Given the description of an element on the screen output the (x, y) to click on. 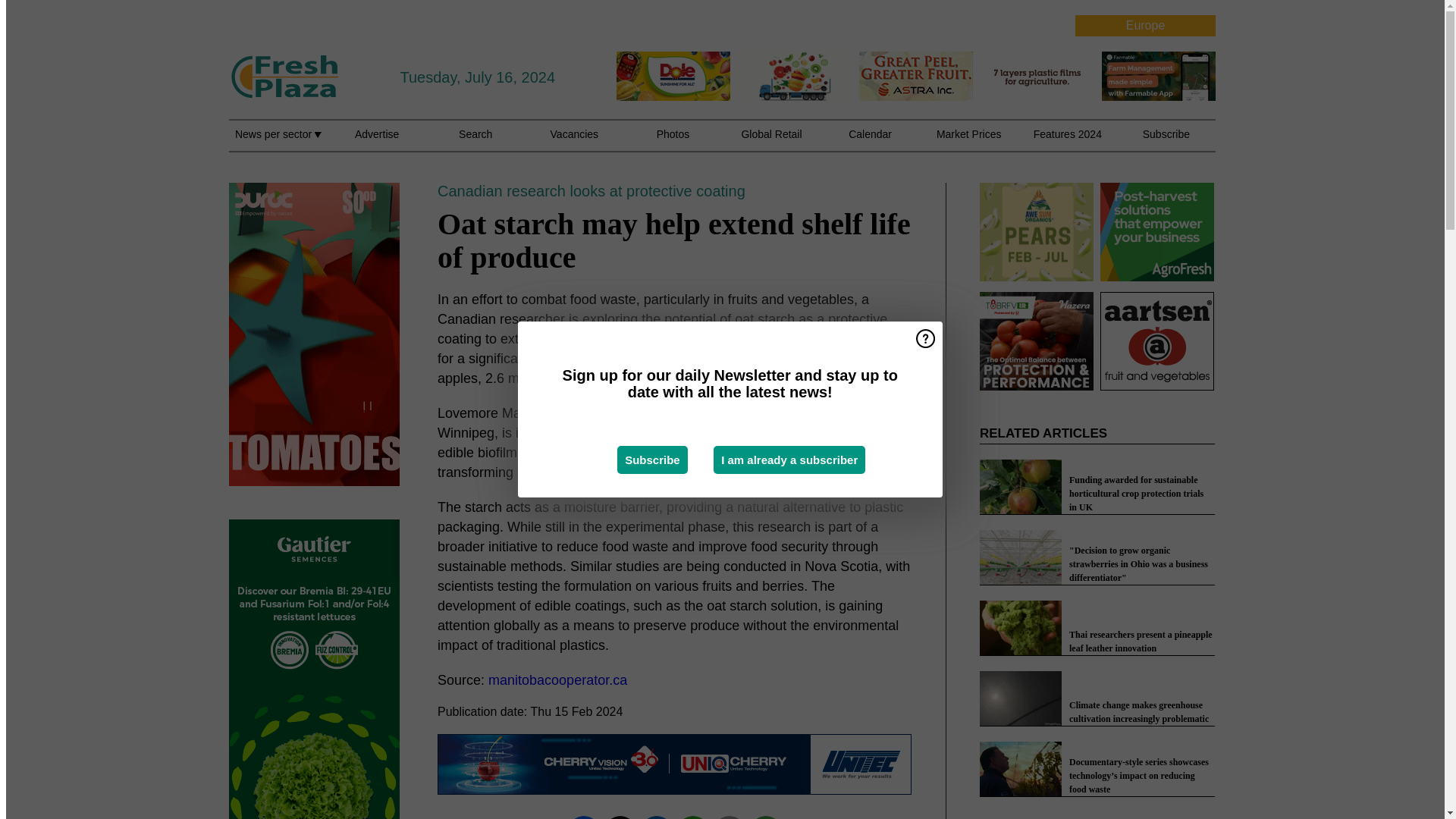
WhatsApp (693, 816)
Subscribe (652, 459)
LinkedIn (657, 816)
Facebook (584, 816)
News per sector (277, 142)
Email This (729, 816)
More Options (766, 816)
I am already a subscriber (788, 459)
